Given the description of an element on the screen output the (x, y) to click on. 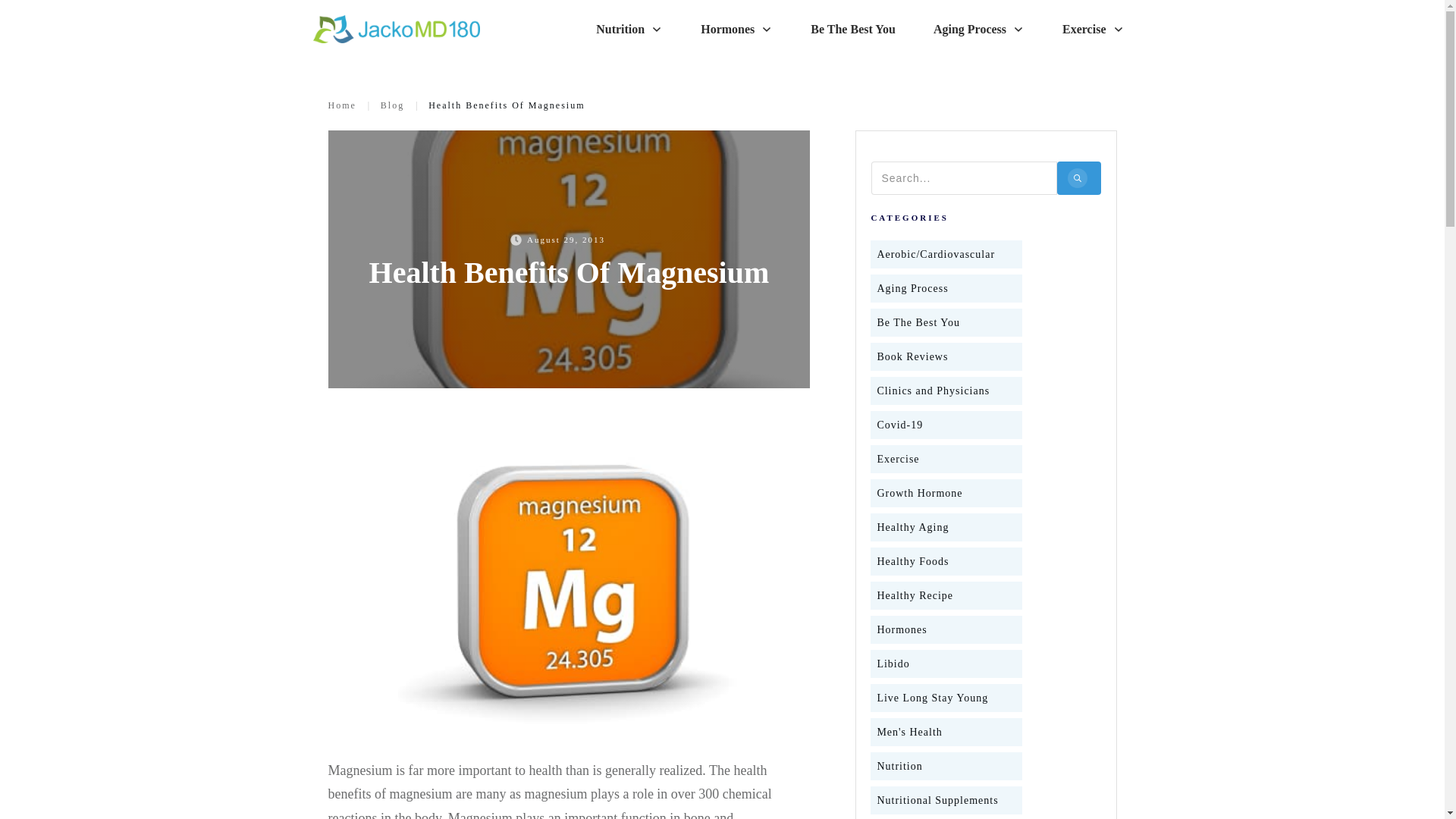
Home (341, 105)
Blog (392, 105)
Aging Process (979, 29)
Be The Best You (917, 322)
Nutrition (628, 29)
Be The Best You (852, 29)
Exercise (1093, 29)
Hormones (736, 29)
Aging Process (911, 288)
